Given the description of an element on the screen output the (x, y) to click on. 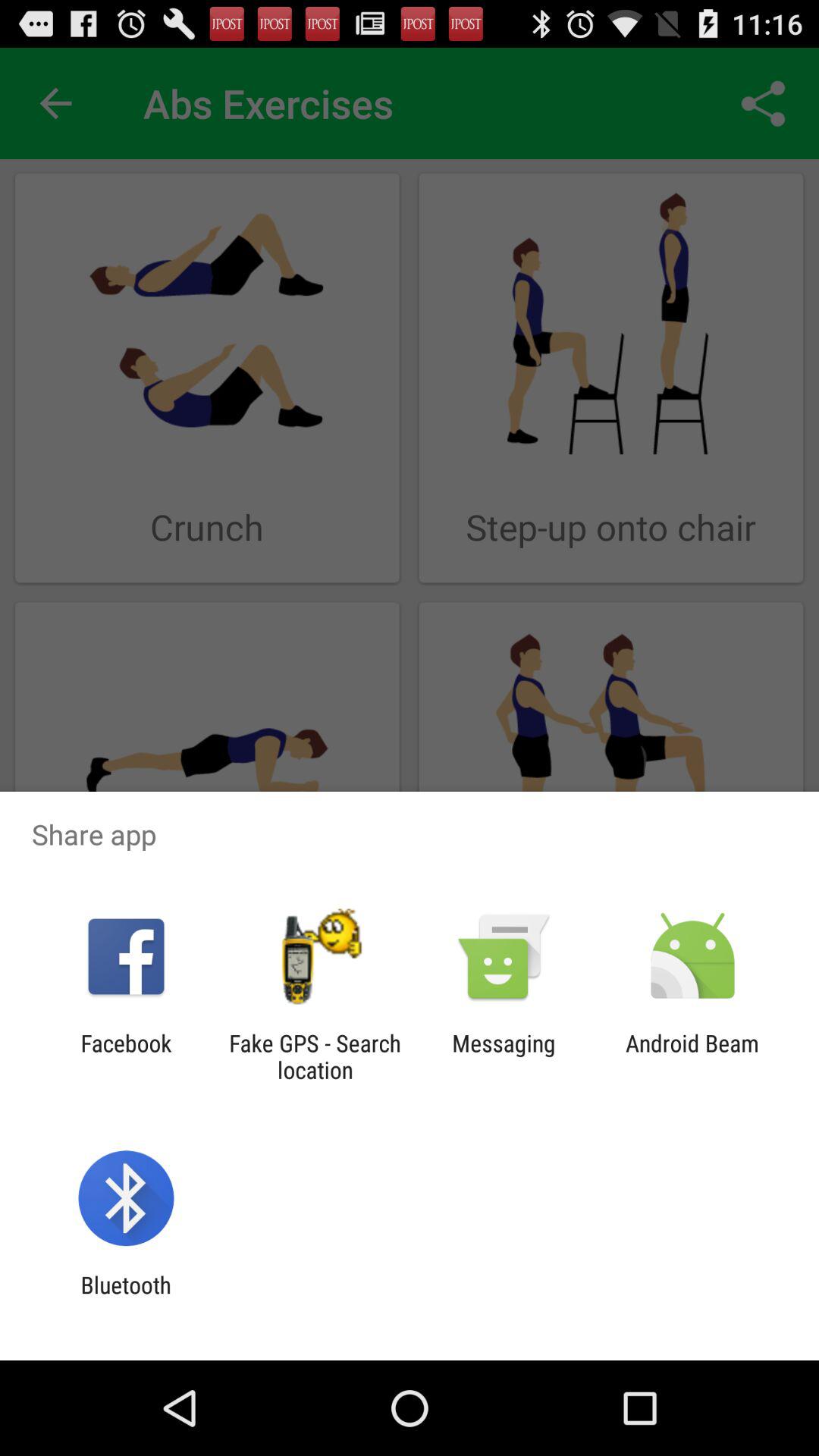
tap icon to the left of abs exercises app (55, 103)
